Given the description of an element on the screen output the (x, y) to click on. 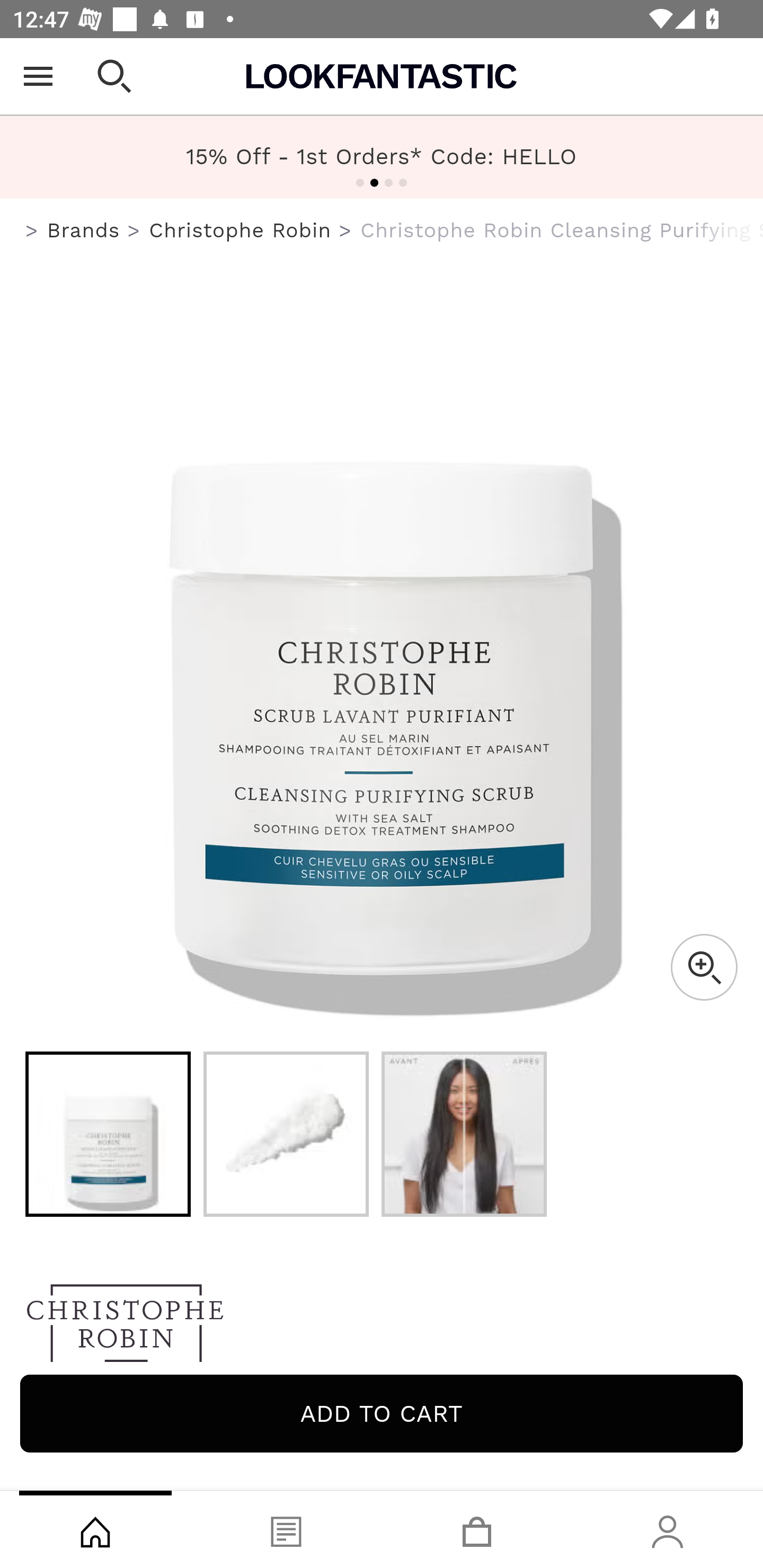
Open Menu (38, 75)
Open search (114, 75)
Lookfantastic USA (381, 75)
FREE US Shipping Over $40 (381, 157)
us.lookfantastic (32, 230)
Brands (82, 230)
Christophe Robin (239, 230)
Zoom (703, 966)
Christophe Robin (381, 1327)
Add to cart (381, 1413)
Shop, tab, 1 of 4 (95, 1529)
Blog, tab, 2 of 4 (285, 1529)
Basket, tab, 3 of 4 (476, 1529)
Account, tab, 4 of 4 (667, 1529)
